Given the description of an element on the screen output the (x, y) to click on. 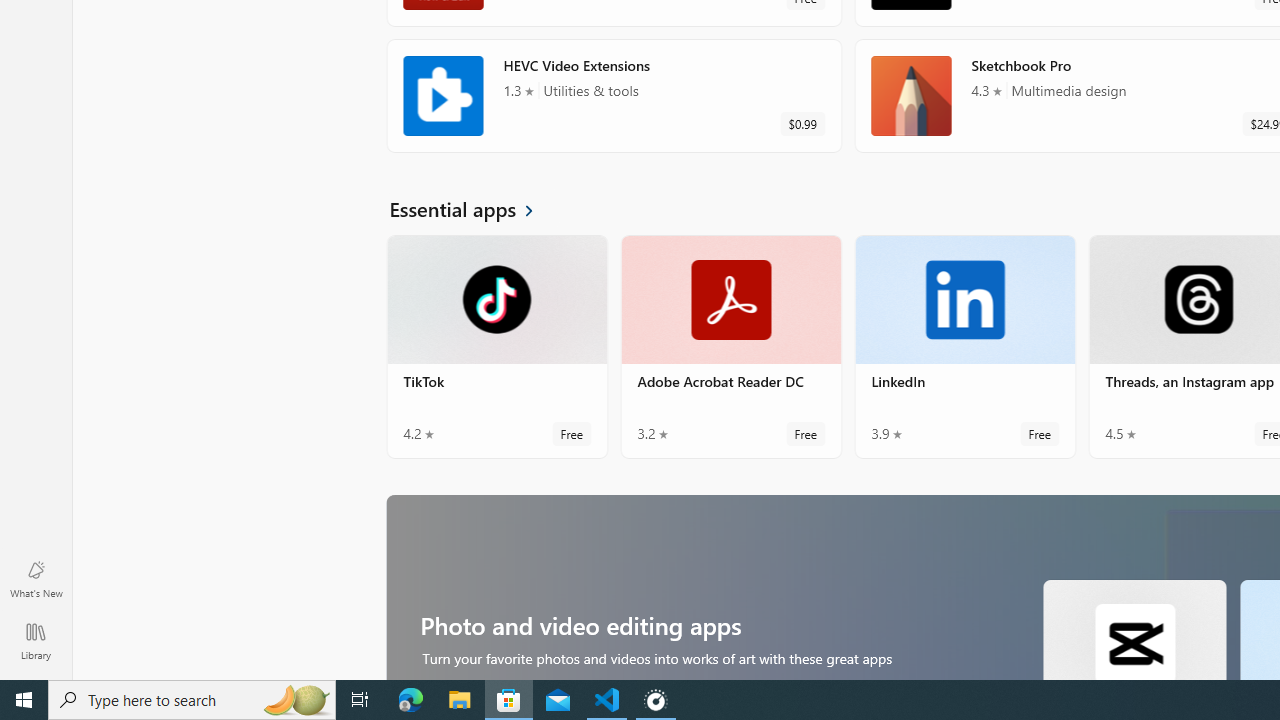
CapCut. Average rating of 4.7 out of five stars. Free   (1134, 628)
LinkedIn. Average rating of 3.9 out of five stars. Free   (964, 346)
See all  Essential apps (473, 208)
TikTok. Average rating of 4.2 out of five stars. Free   (497, 346)
